Given the description of an element on the screen output the (x, y) to click on. 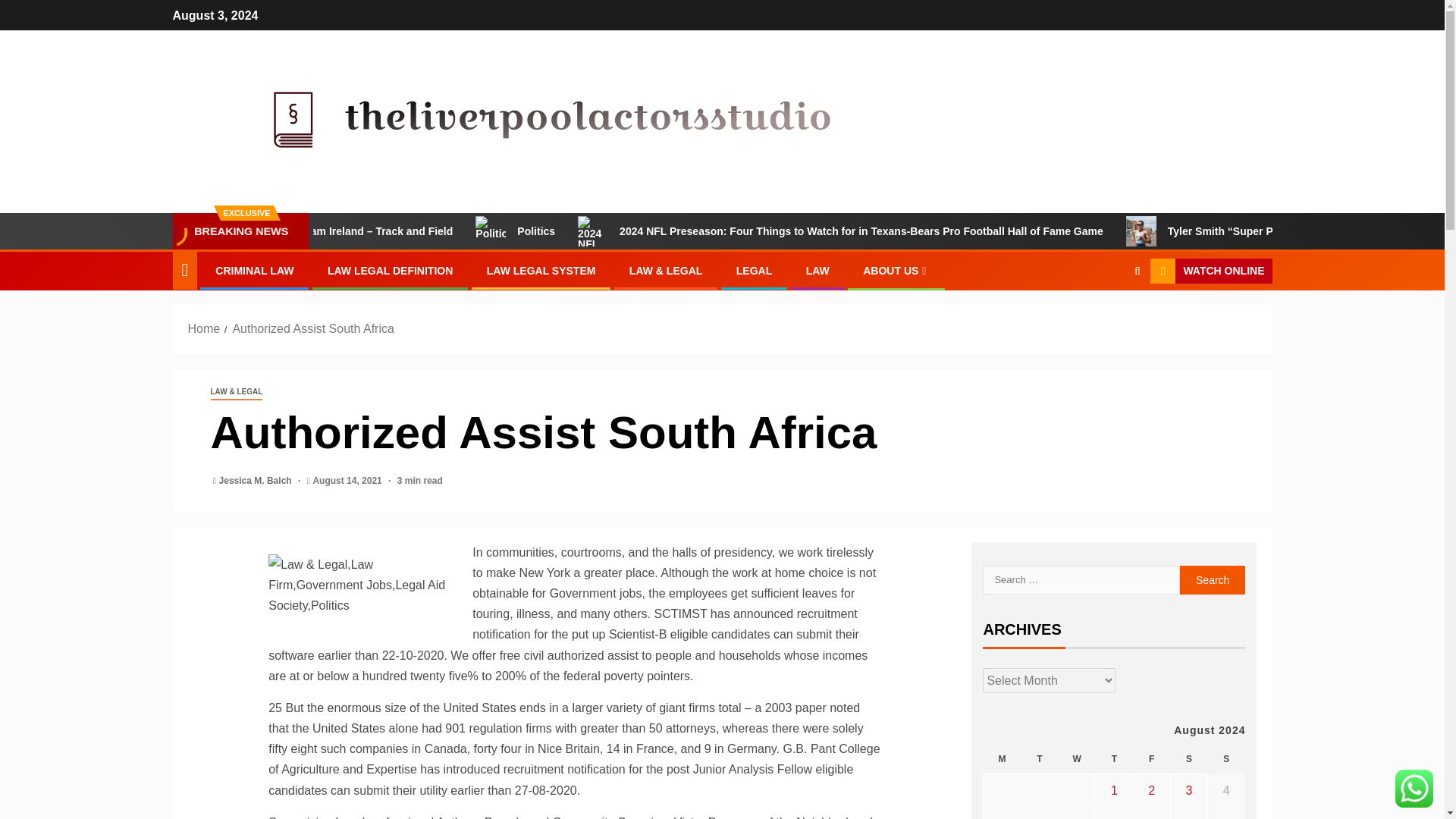
CRIMINAL LAW (254, 270)
Search (1212, 579)
Politics (623, 231)
Politics (558, 227)
Search (1107, 317)
LEGAL (753, 270)
LAW LEGAL DEFINITION (389, 270)
Search (1212, 579)
ABOUT US (896, 270)
Authorized Assist South Africa (312, 328)
LAW LEGAL SYSTEM (540, 270)
Jessica M. Balch (256, 480)
Home (204, 328)
LAW (817, 270)
